Given the description of an element on the screen output the (x, y) to click on. 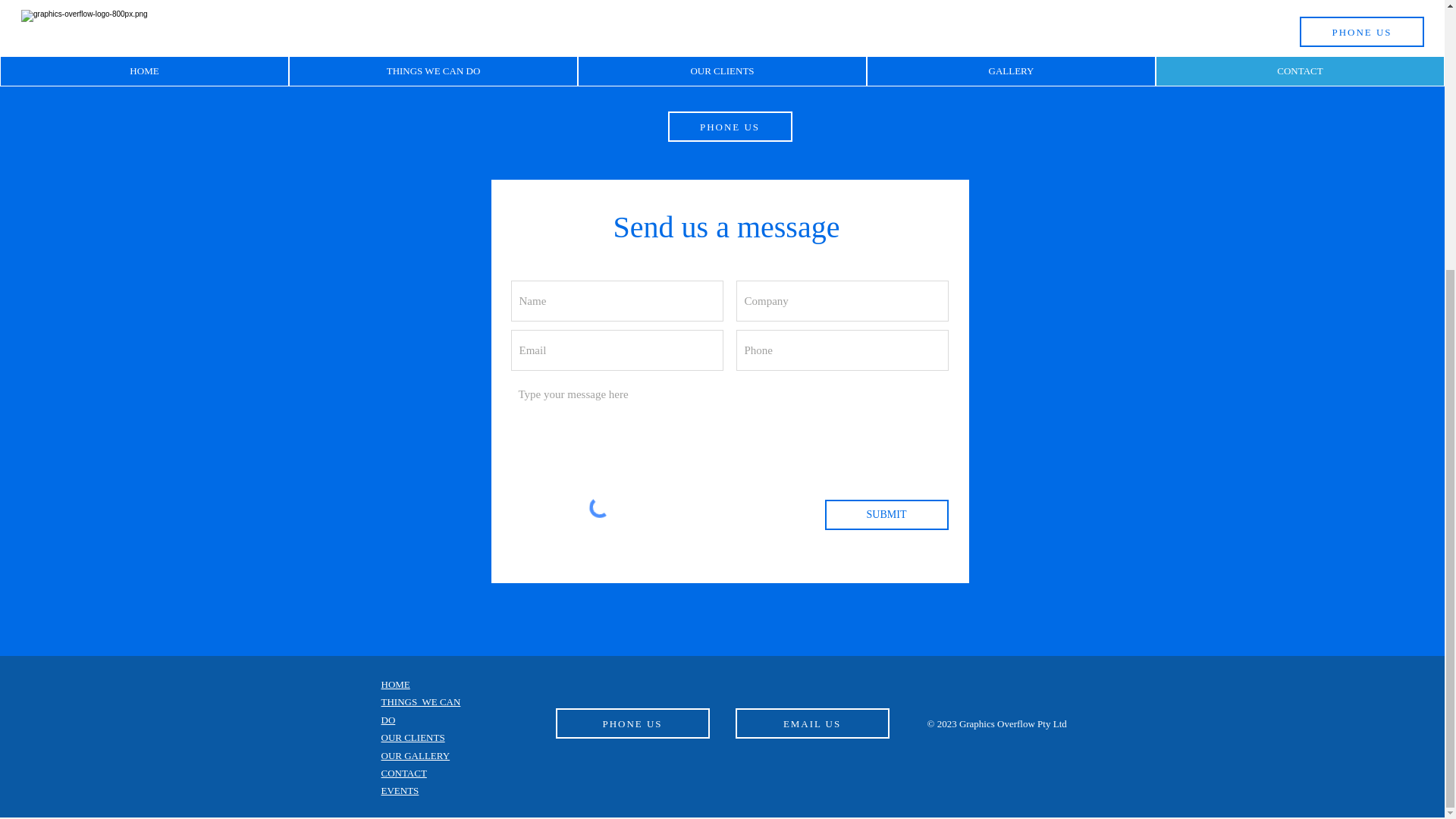
SUBMIT (887, 514)
PHONE US (729, 126)
OUR CLIENTS (412, 737)
THINGS  WE CAN DO (420, 710)
EMAIL US (812, 723)
PHONE US (631, 723)
EVENTS (399, 790)
HOME (394, 684)
CONTACT (403, 772)
OUR GALLERY (414, 755)
